Given the description of an element on the screen output the (x, y) to click on. 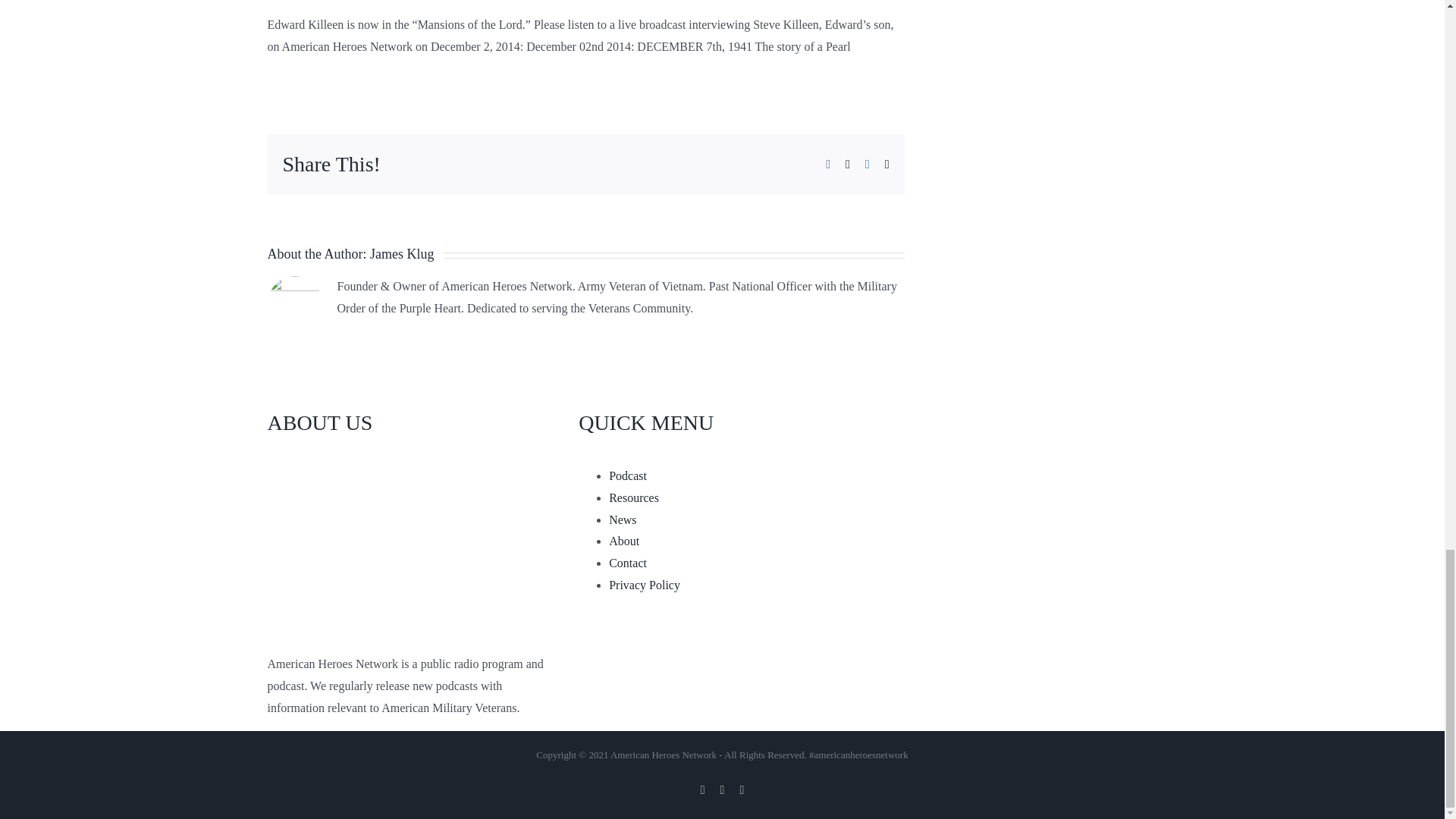
James Klug (401, 253)
Podcast (627, 475)
Resources (633, 497)
Posts by James Klug (401, 253)
